Given the description of an element on the screen output the (x, y) to click on. 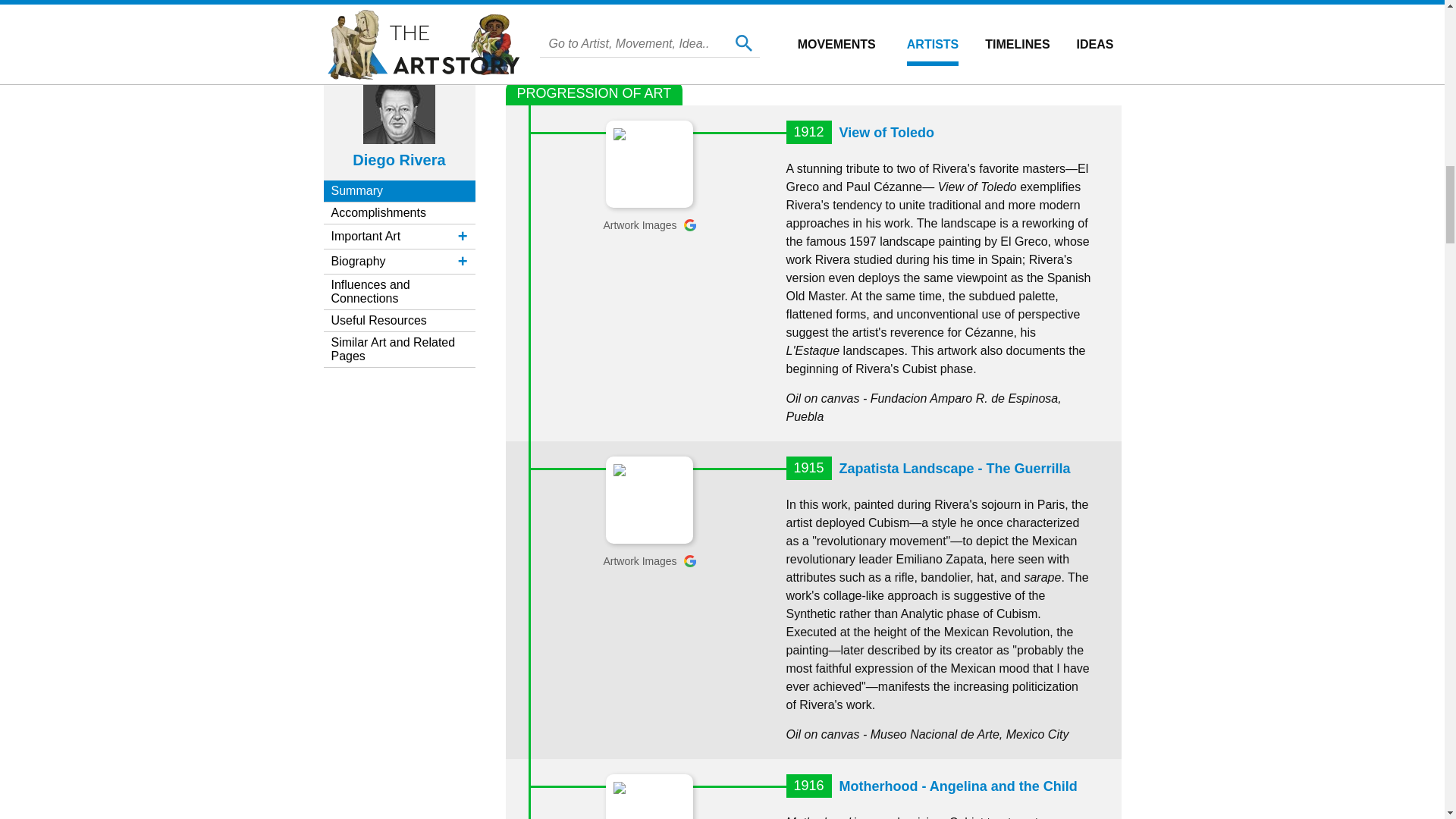
Artwork Images (648, 224)
Artwork Images (648, 561)
